Given the description of an element on the screen output the (x, y) to click on. 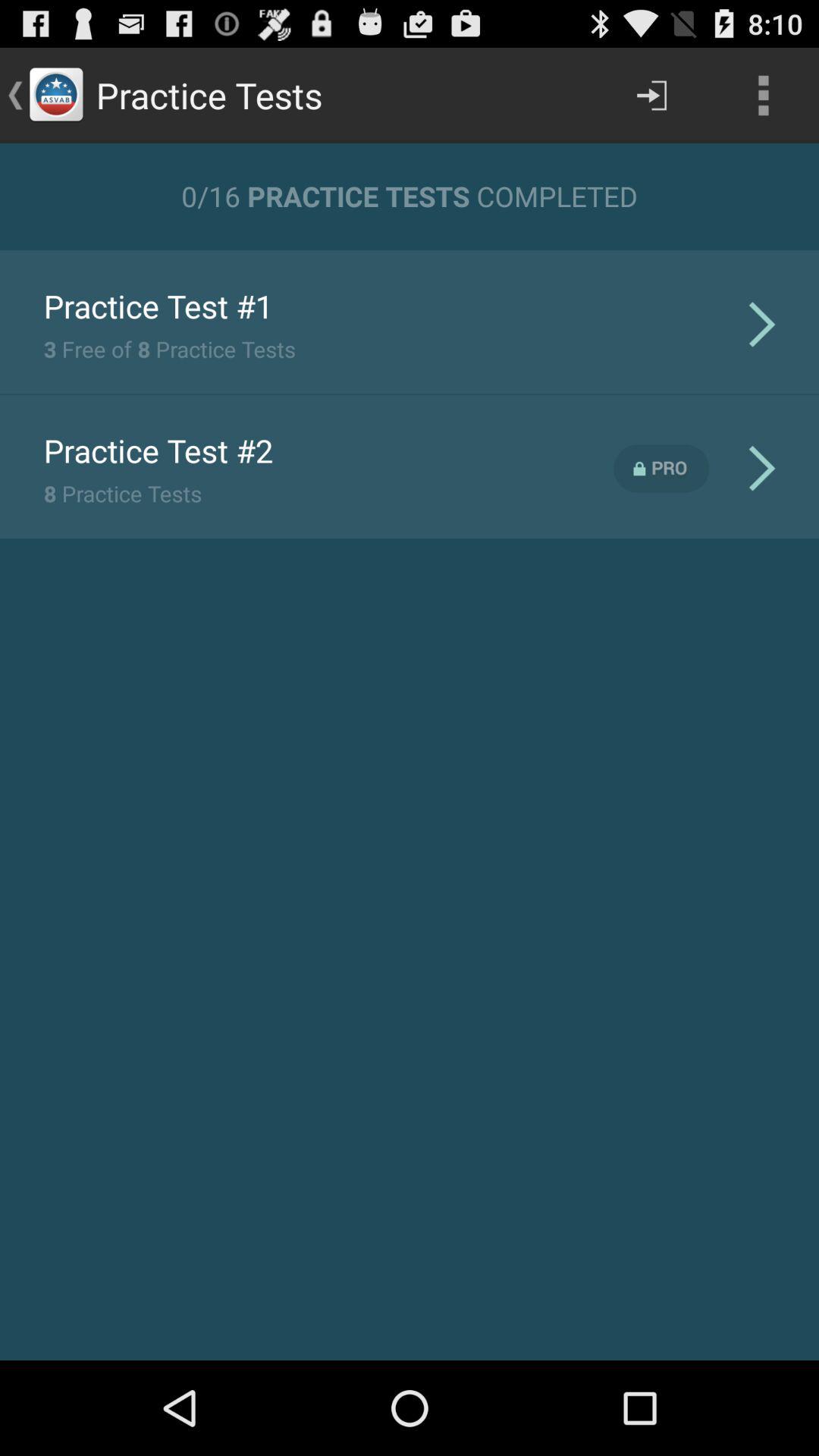
turn off the icon next to 3 free of (762, 323)
